Given the description of an element on the screen output the (x, y) to click on. 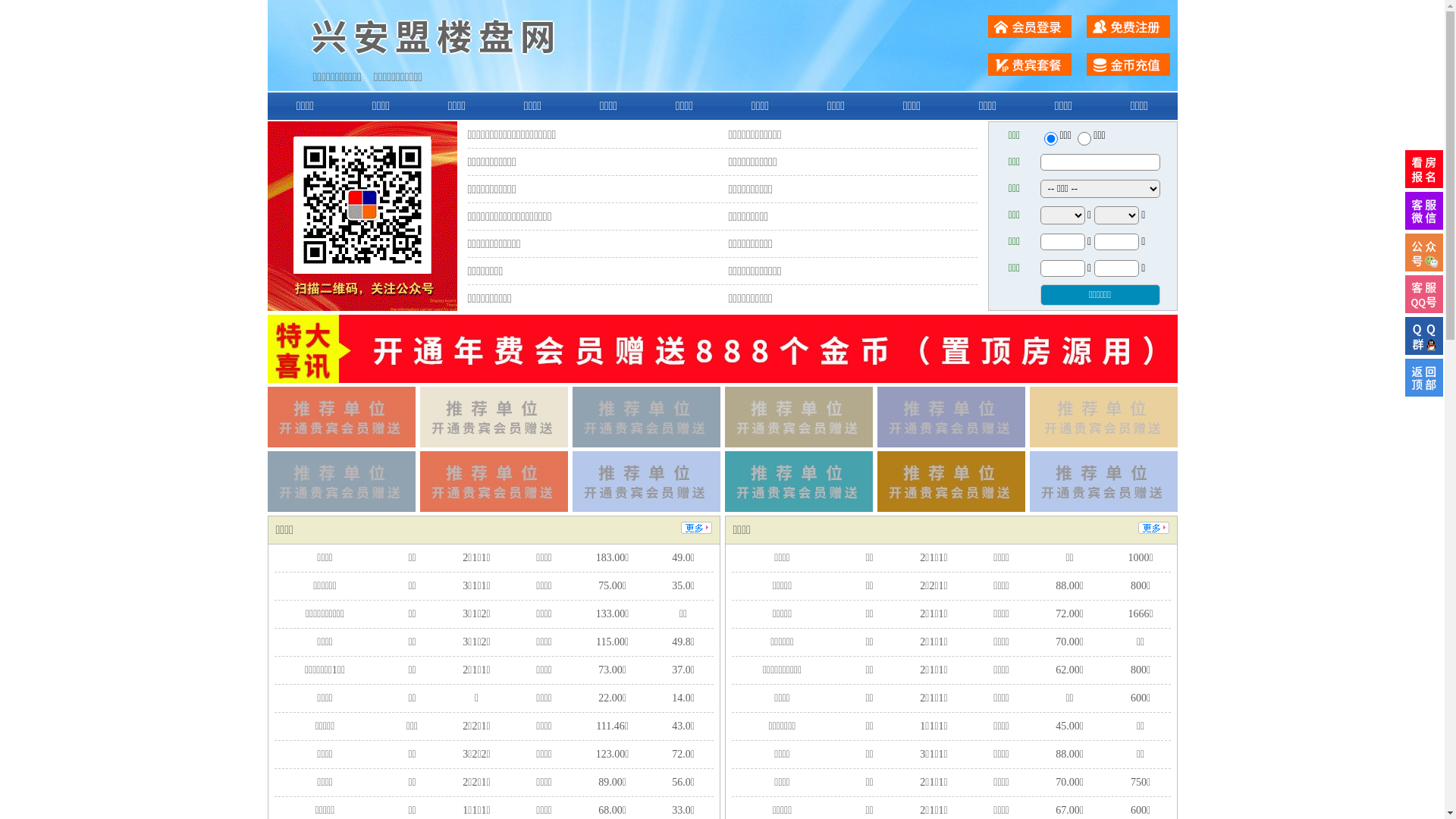
chuzu Element type: text (1084, 138)
ershou Element type: text (1050, 138)
